Given the description of an element on the screen output the (x, y) to click on. 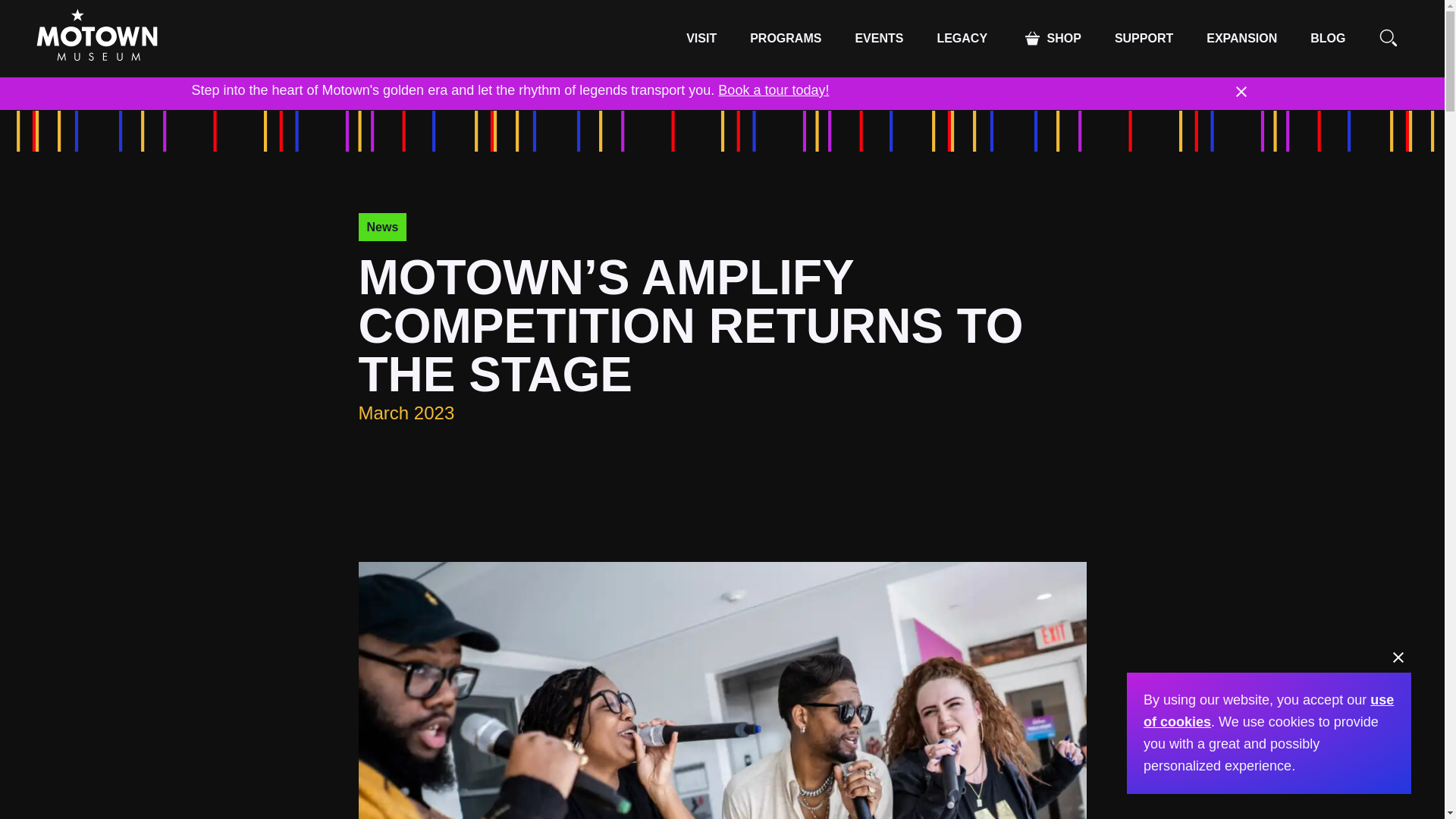
VISIT (701, 38)
PROGRAMS (785, 38)
SUPPORT (1143, 38)
SHOP (1050, 38)
BLOG (1327, 38)
EXPANSION (1241, 38)
EVENTS (879, 38)
LEGACY (962, 38)
use of cookies (1267, 710)
